Given the description of an element on the screen output the (x, y) to click on. 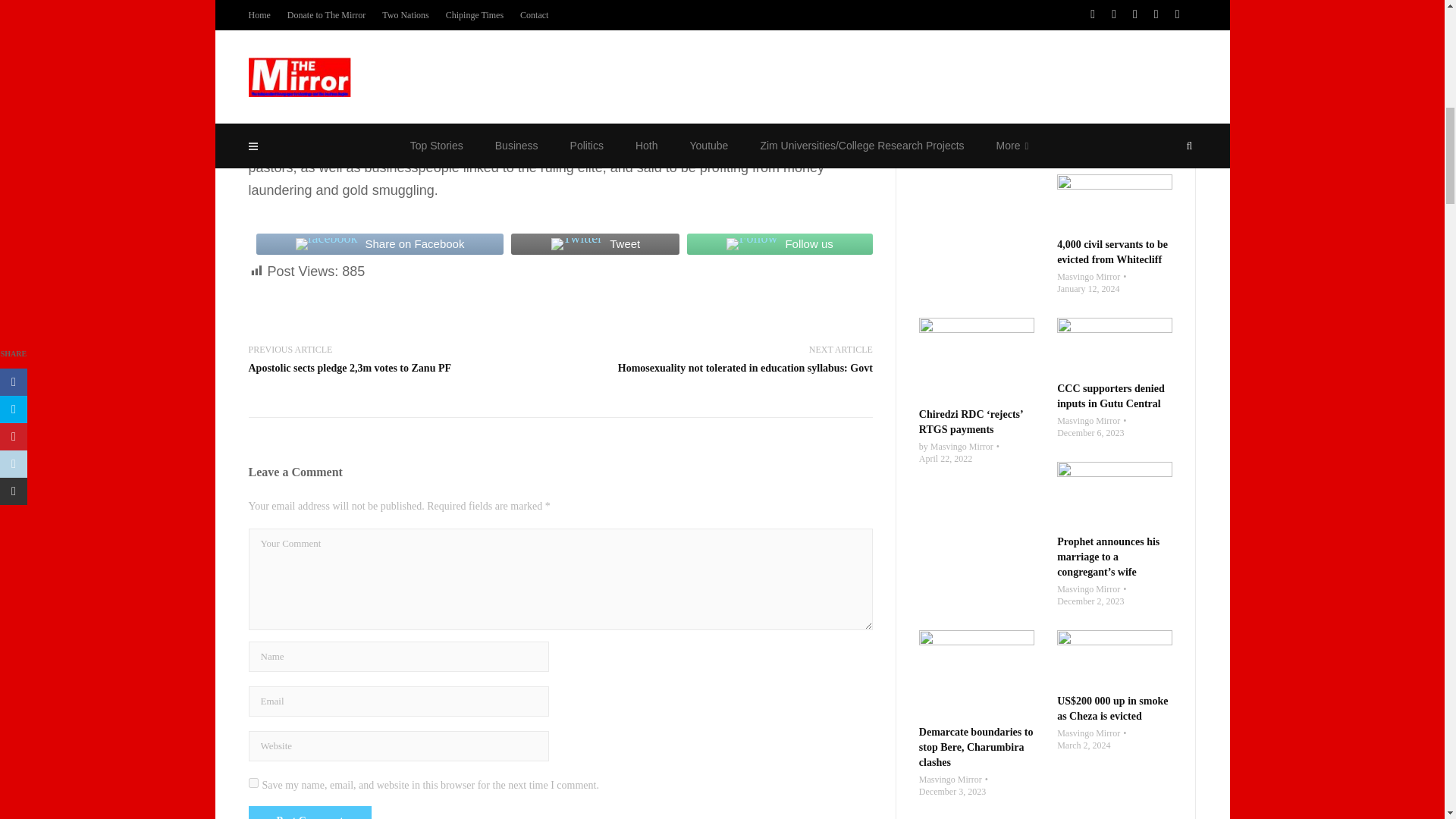
Post Comment (309, 816)
yes (253, 782)
